Given the description of an element on the screen output the (x, y) to click on. 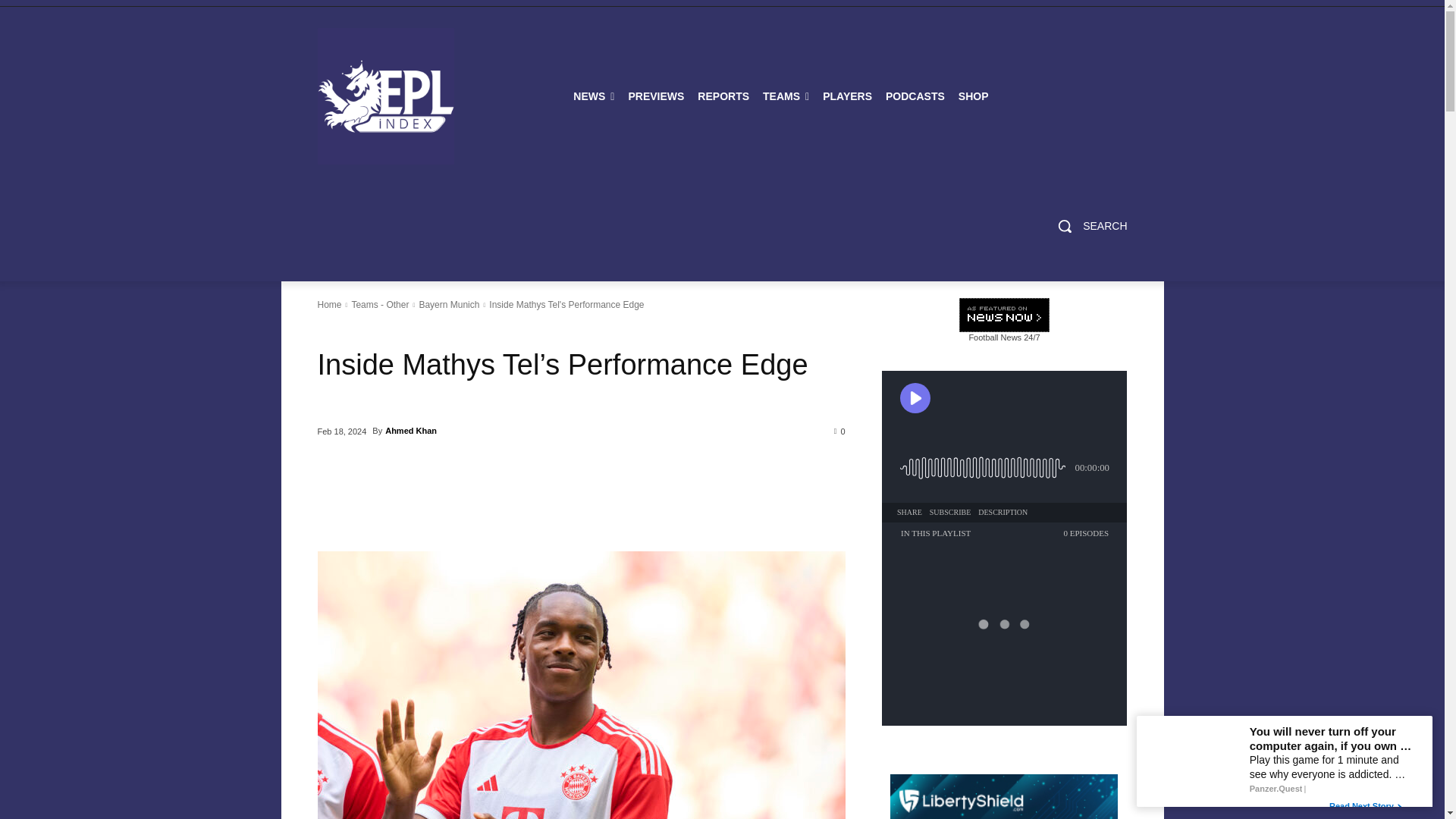
REPORTS (722, 95)
TEAMS (785, 95)
EPL Index (384, 95)
Teams - Other (379, 304)
EPL Index Player Profiles (847, 95)
0 (839, 429)
SEARCH (1086, 226)
EPL Team Analysis (785, 95)
Home (328, 304)
EPL Match Previews (655, 95)
